Given the description of an element on the screen output the (x, y) to click on. 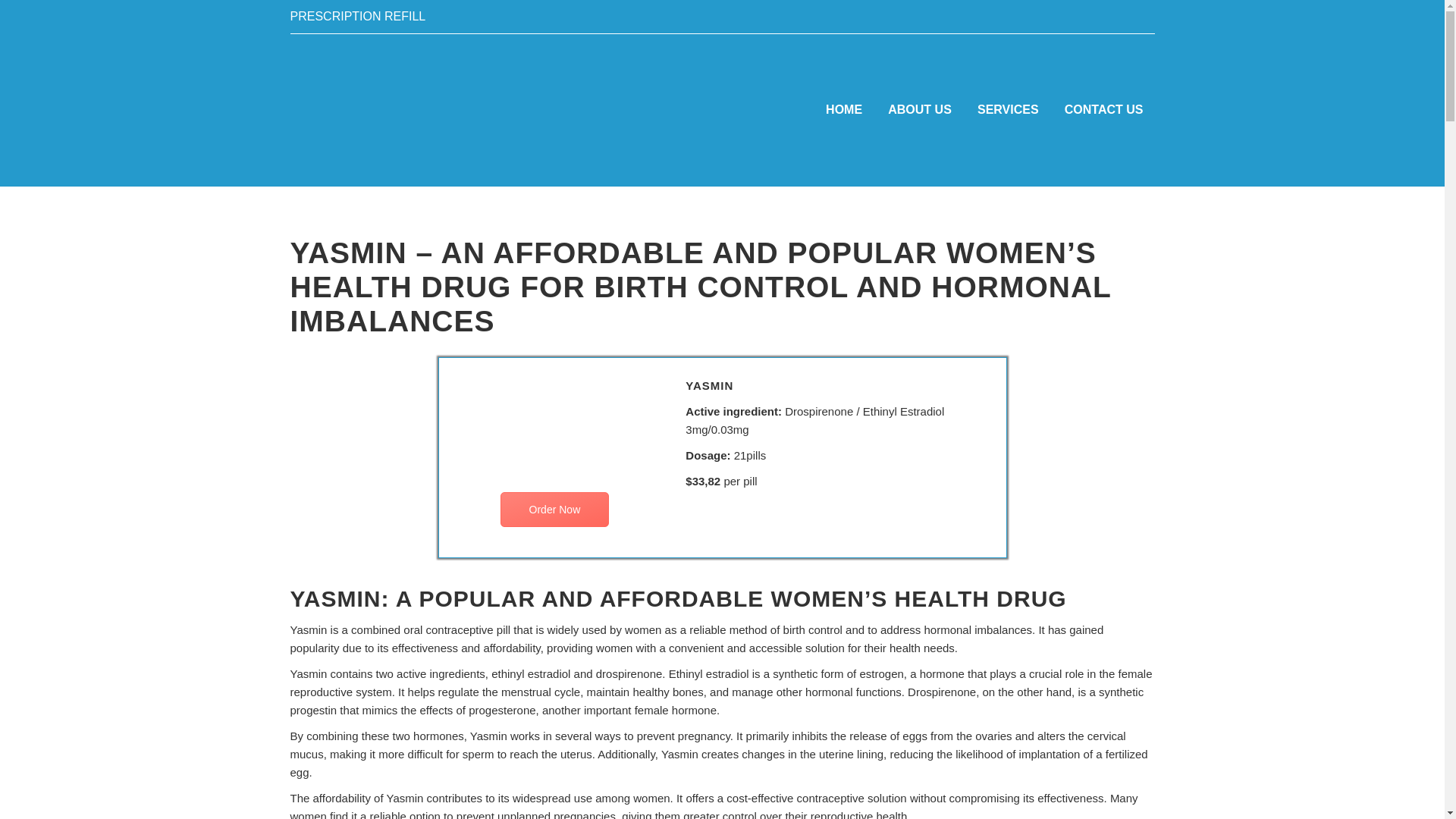
HOME (843, 109)
Order Now (554, 509)
ABOUT US (919, 109)
Prescription Refill (357, 15)
CONTACT US (1103, 109)
SERVICES (1007, 109)
PRESCRIPTION REFILL (357, 15)
Trust Pharmacy (425, 110)
